Given the description of an element on the screen output the (x, y) to click on. 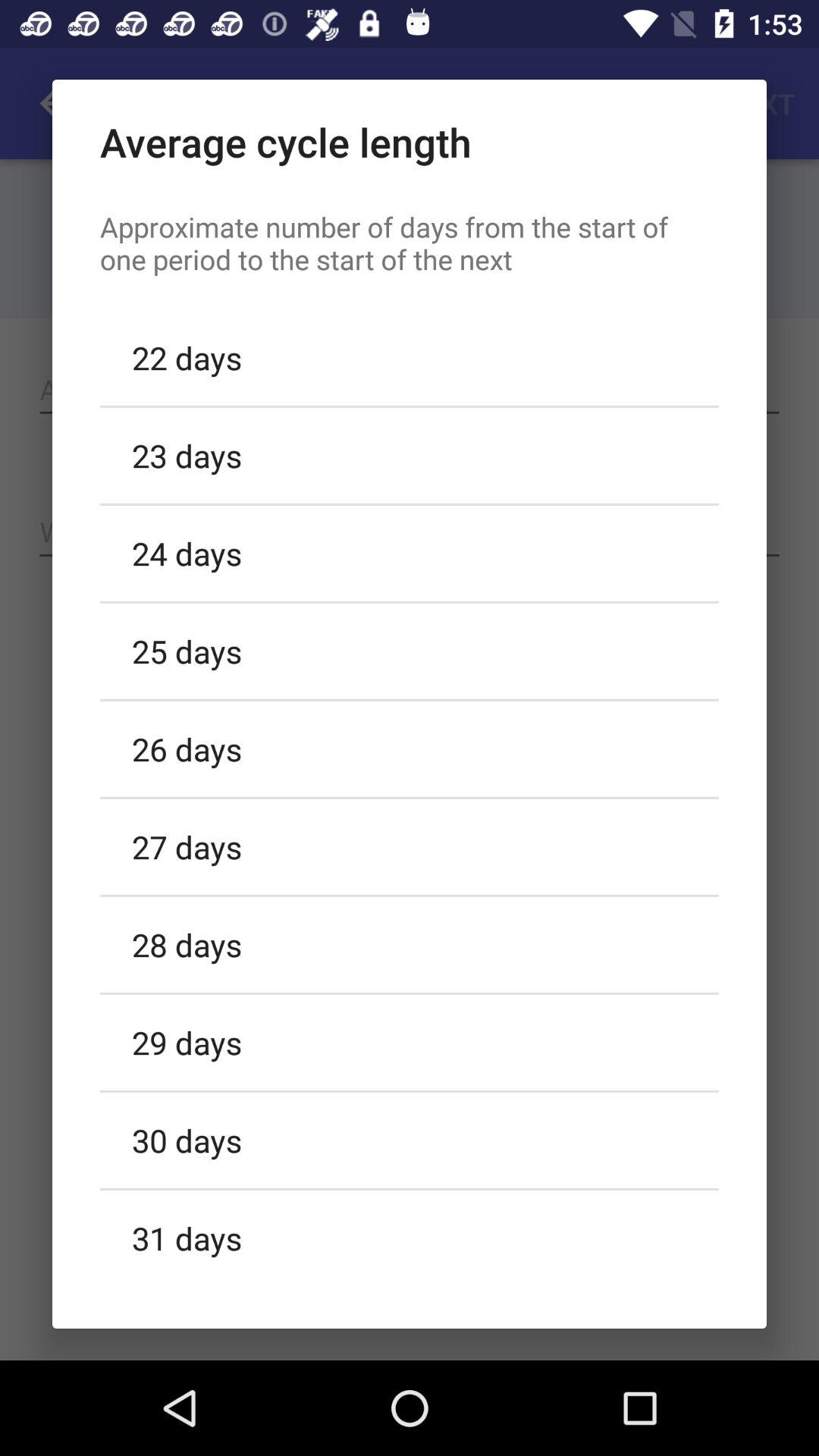
click the item below the 25 days (409, 748)
